Given the description of an element on the screen output the (x, y) to click on. 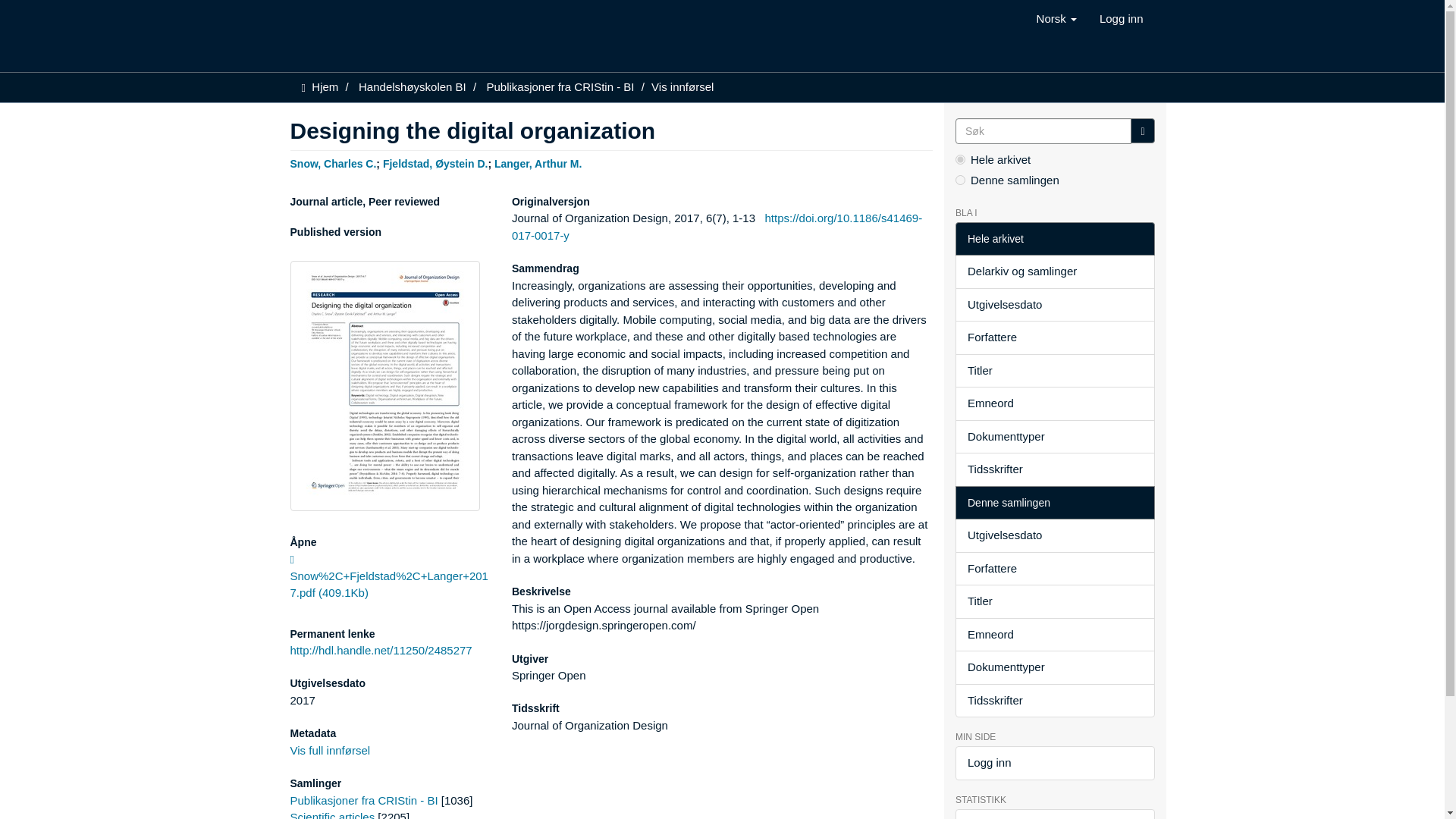
Snow, Charles C. (332, 163)
Utgivelsesdato (1054, 305)
Hele arkivet (1054, 238)
Scientific articles (331, 814)
Publikasjoner fra CRIStin - BI (559, 86)
Publikasjoner fra CRIStin - BI (363, 799)
Logg inn (1120, 18)
Langer, Arthur M. (537, 163)
Hjem (324, 86)
Forfattere (1054, 337)
